Given the description of an element on the screen output the (x, y) to click on. 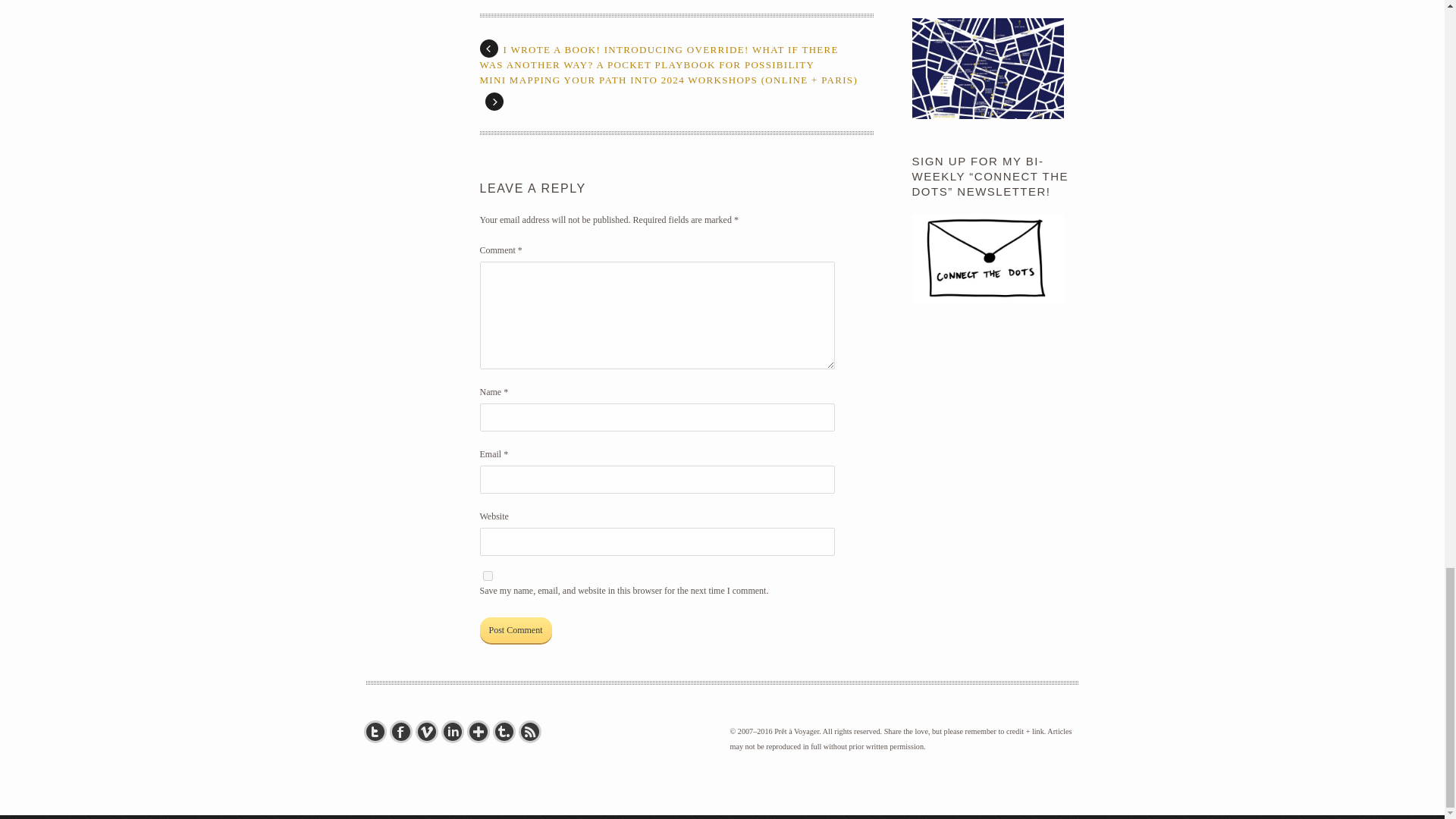
facebook (403, 731)
yes (486, 575)
Post Comment (515, 629)
rss (532, 731)
tumblr (507, 731)
Post Comment (515, 629)
vimeo (429, 731)
linkedin (455, 731)
googleplus (481, 731)
twitter (378, 731)
Map Making Skillshare course (986, 115)
